Given the description of an element on the screen output the (x, y) to click on. 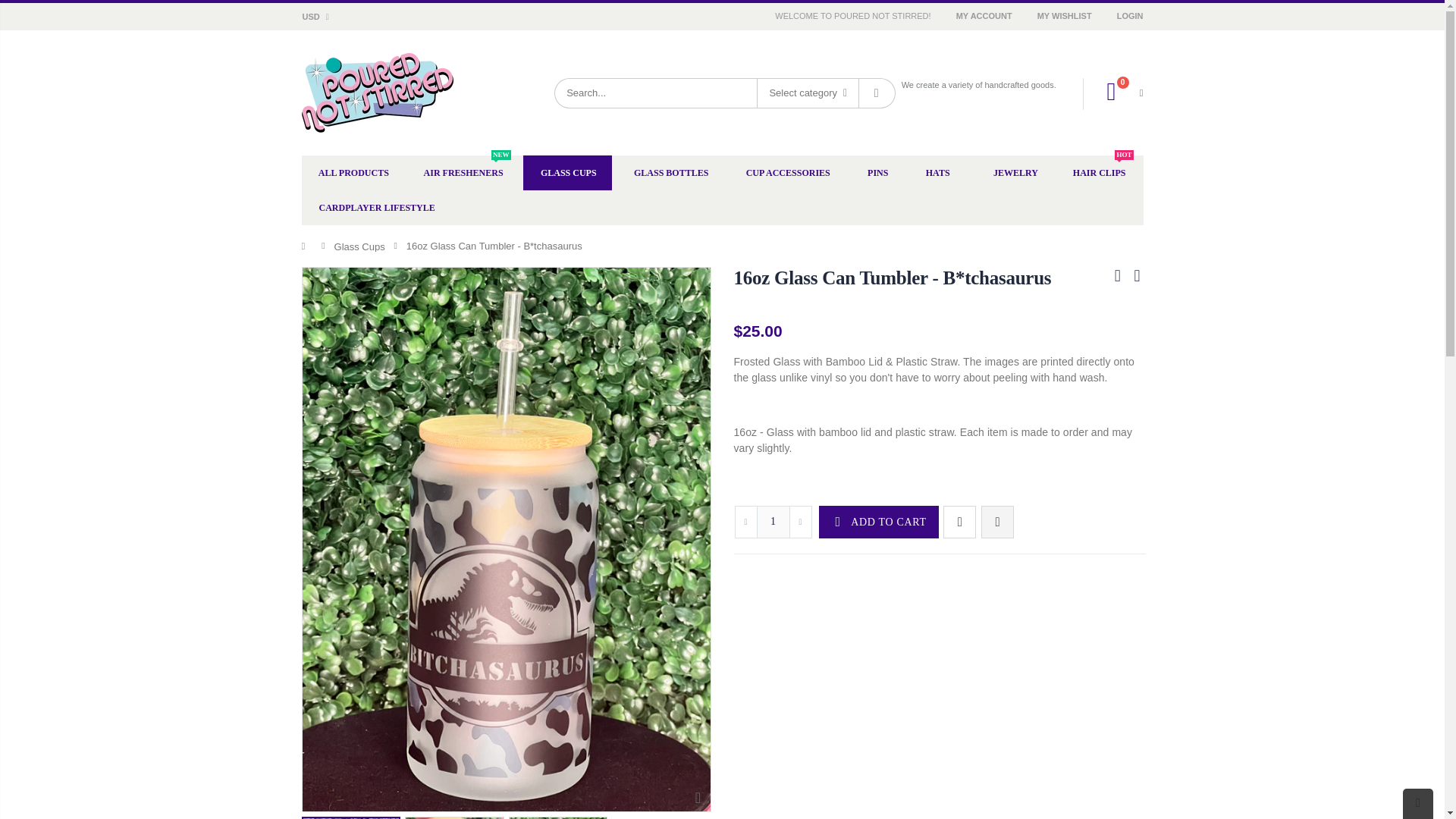
JEWELRY (1013, 172)
MY ACCOUNT (985, 15)
HATS (936, 172)
GLASS CUPS (566, 172)
Next Product (1136, 275)
CUP ACCESSORIES (787, 172)
Select category (808, 92)
Add to wishlist (959, 522)
Select category (808, 92)
GLASS BOTTLES (669, 172)
